Given the description of an element on the screen output the (x, y) to click on. 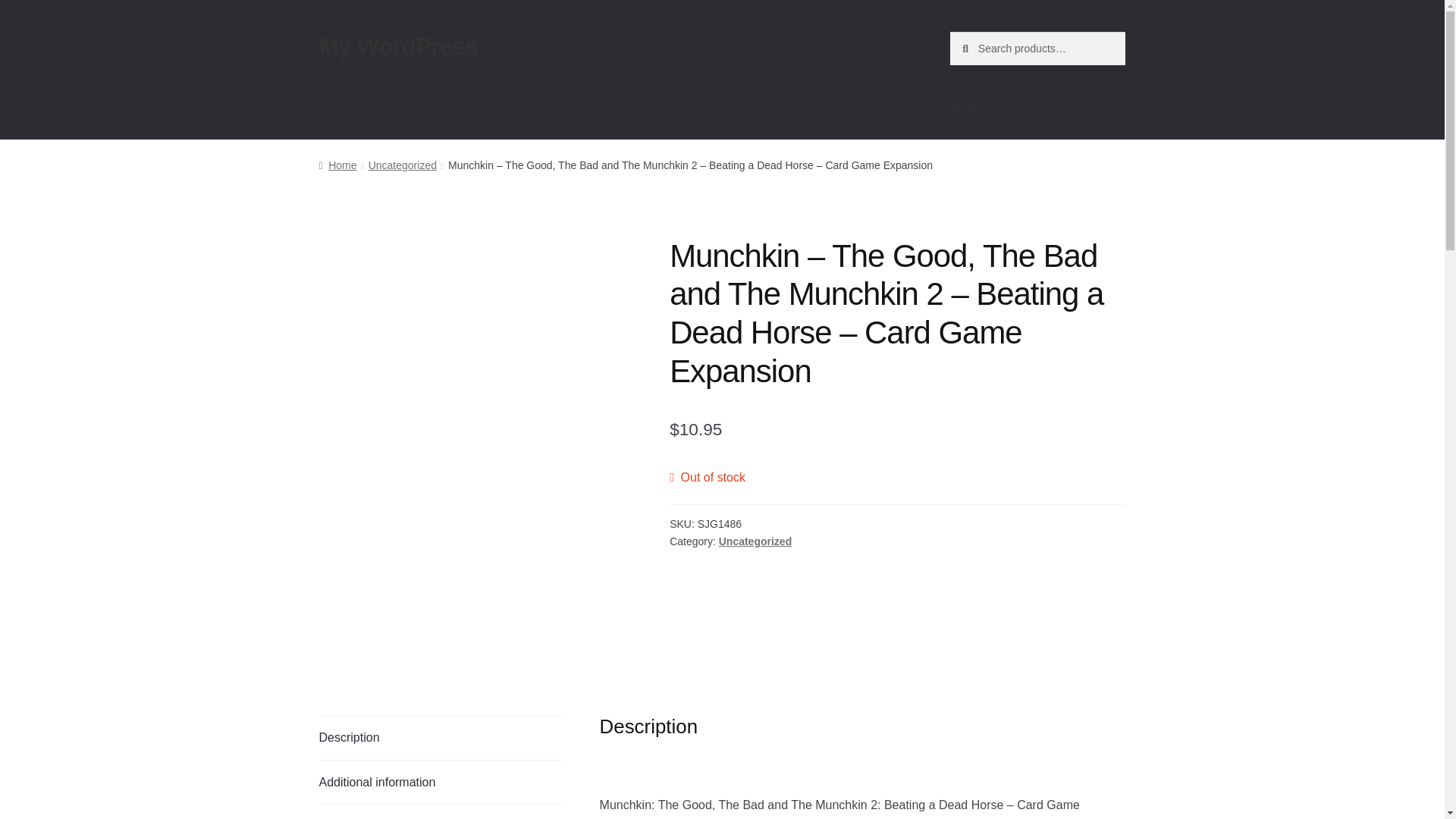
Additional information (441, 782)
Home (337, 164)
View your shopping cart (1037, 109)
Uncategorized (402, 164)
Description (441, 737)
My WordPress (398, 45)
Uncategorized (755, 541)
